Given the description of an element on the screen output the (x, y) to click on. 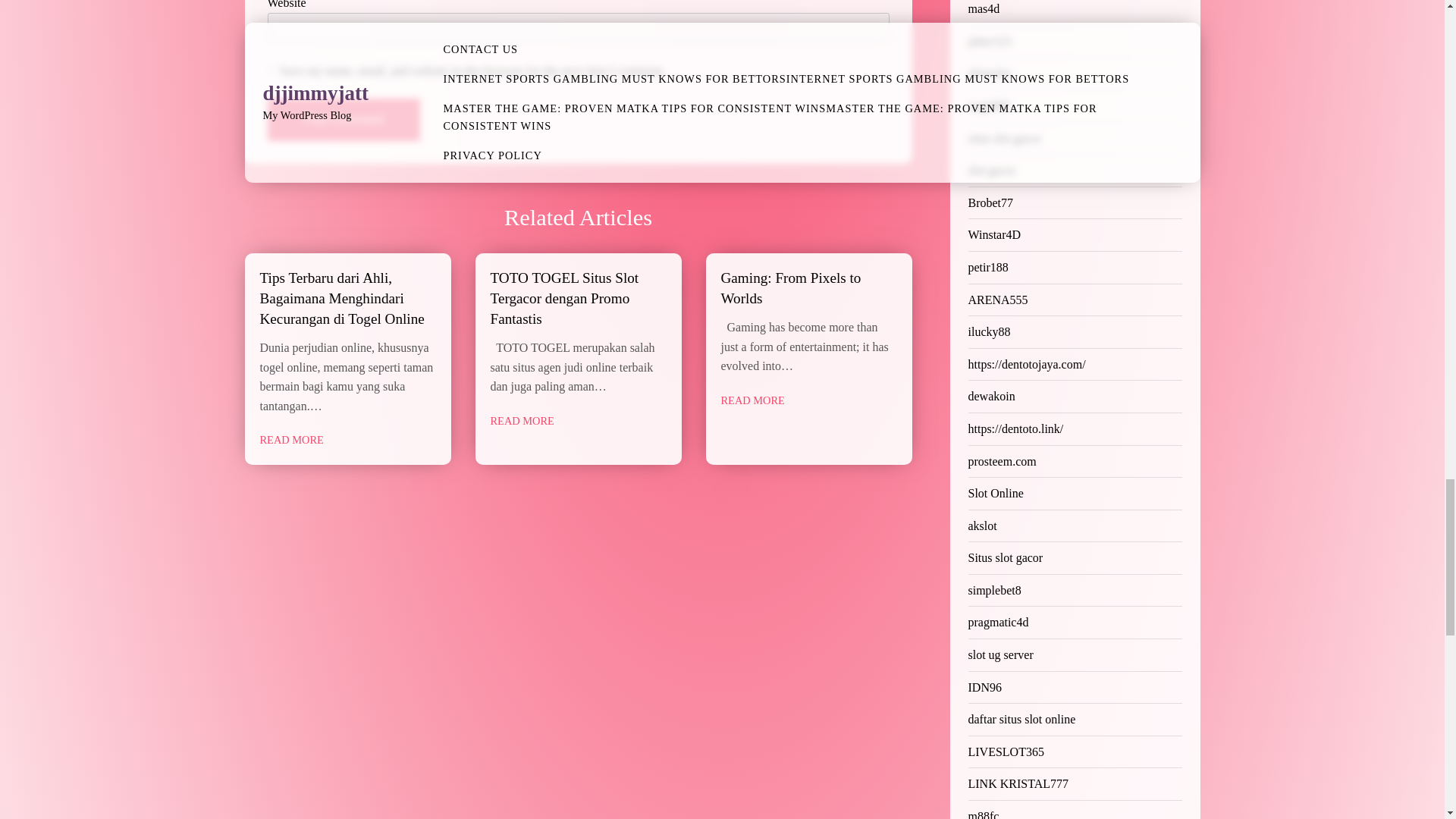
READ MORE (291, 439)
TOTO TOGEL Situs Slot Tergacor dengan Promo Fantastis (564, 298)
yes (271, 70)
Gaming: From Pixels to Worlds (790, 288)
Post Comment (343, 119)
READ MORE (521, 420)
Post Comment (343, 119)
READ MORE (752, 400)
